Given the description of an element on the screen output the (x, y) to click on. 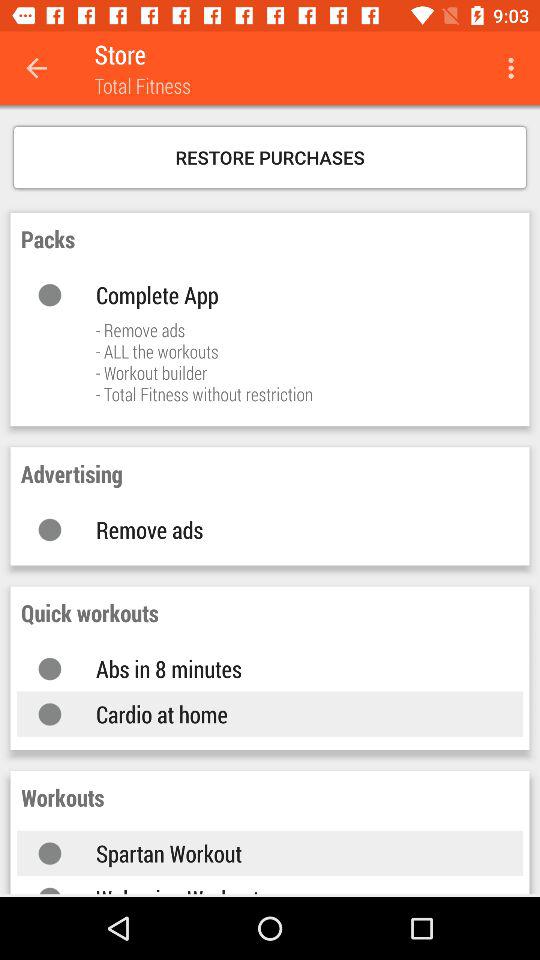
tap the icon above wolverine workout item (289, 853)
